Given the description of an element on the screen output the (x, y) to click on. 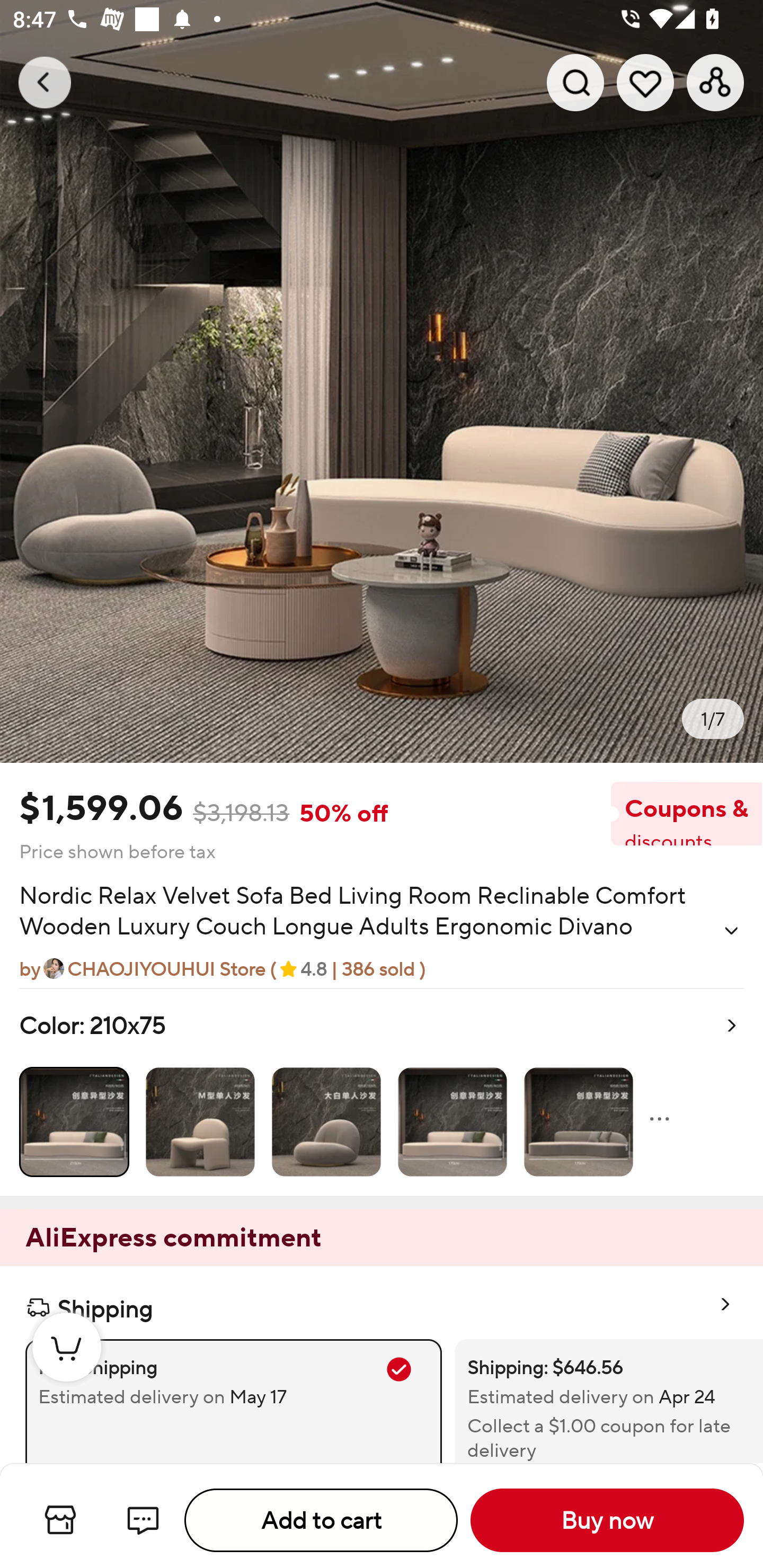
Navigate up (44, 82)
 (730, 930)
Color: 210x75  (381, 1092)
Free Shipping  Estimated delivery on May 17  (233, 1400)
Add to cart (320, 1520)
Buy now (606, 1520)
